Given the description of an element on the screen output the (x, y) to click on. 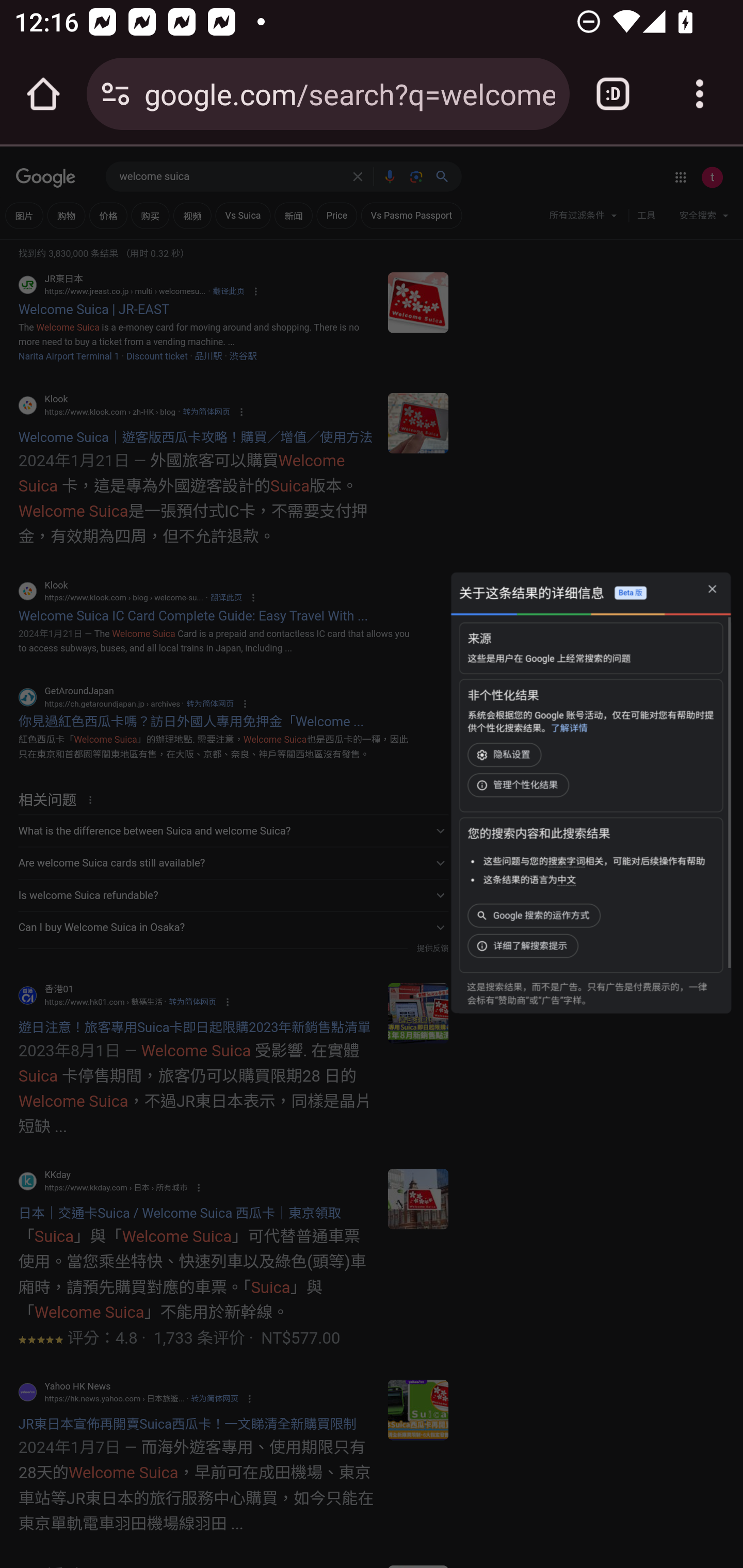
Open the home page (43, 93)
Connection is secure (115, 93)
Switch or close tabs (612, 93)
Customize and control Google Chrome (699, 93)
关闭“关于这条结果” (711, 589)
了解详情 (568, 728)
隐私设置 (506, 754)
管理个性化结果 (520, 785)
这些问题与您的搜索字词相关，可能对后续操作有帮助 (593, 861)
这条结果的语言为中文 (529, 879)
Google 搜索的运作方式 (535, 914)
详细了解搜索提示 (524, 945)
